Given the description of an element on the screen output the (x, y) to click on. 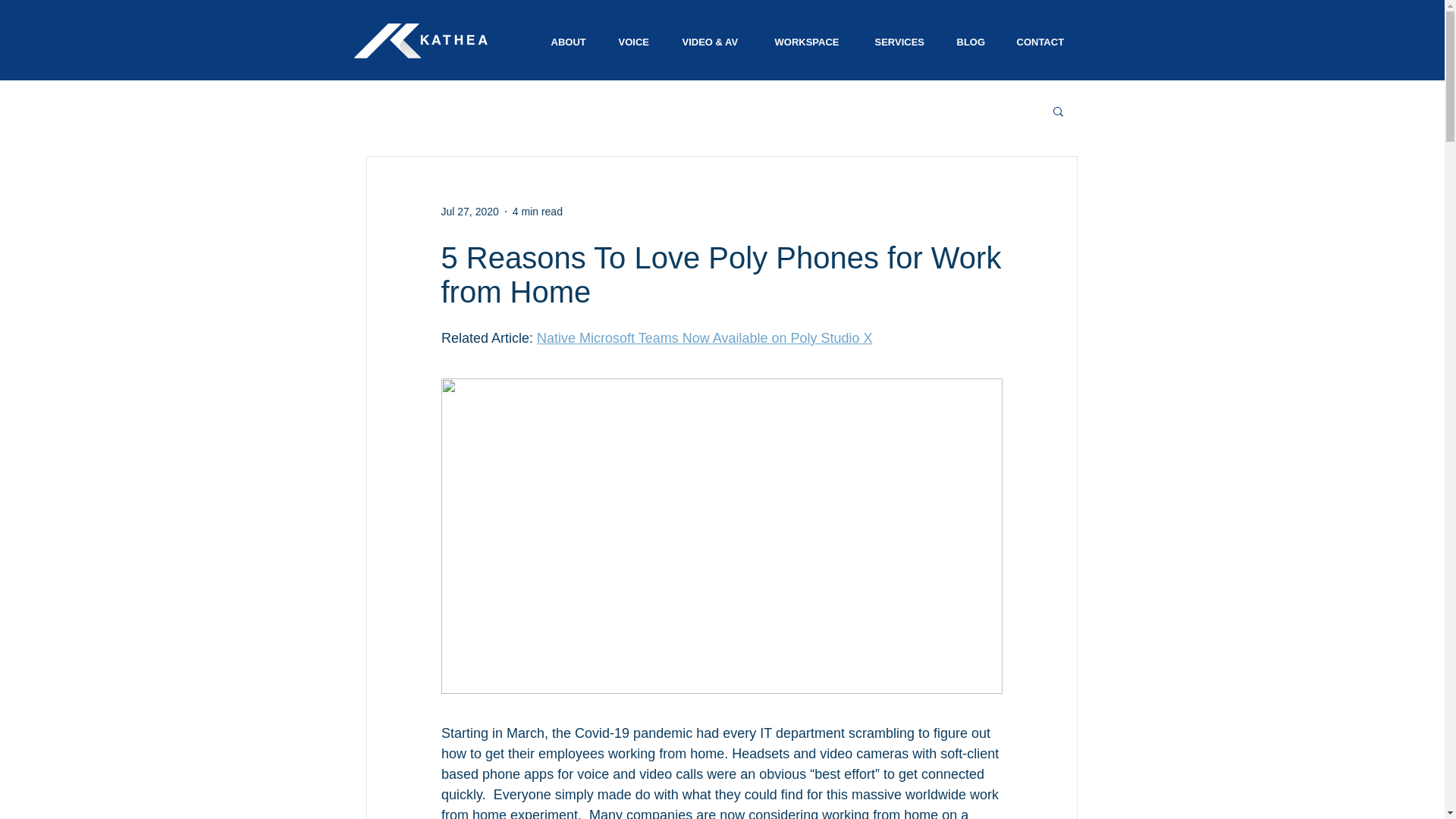
CONTACT (1042, 41)
4 min read (537, 210)
Jul 27, 2020 (470, 210)
WORKSPACE (810, 41)
SERVICES (901, 41)
ABOUT (568, 41)
Native Microsoft Teams Now Available on Poly Studio X (704, 337)
VOICE (635, 41)
BLOG (971, 41)
